Given the description of an element on the screen output the (x, y) to click on. 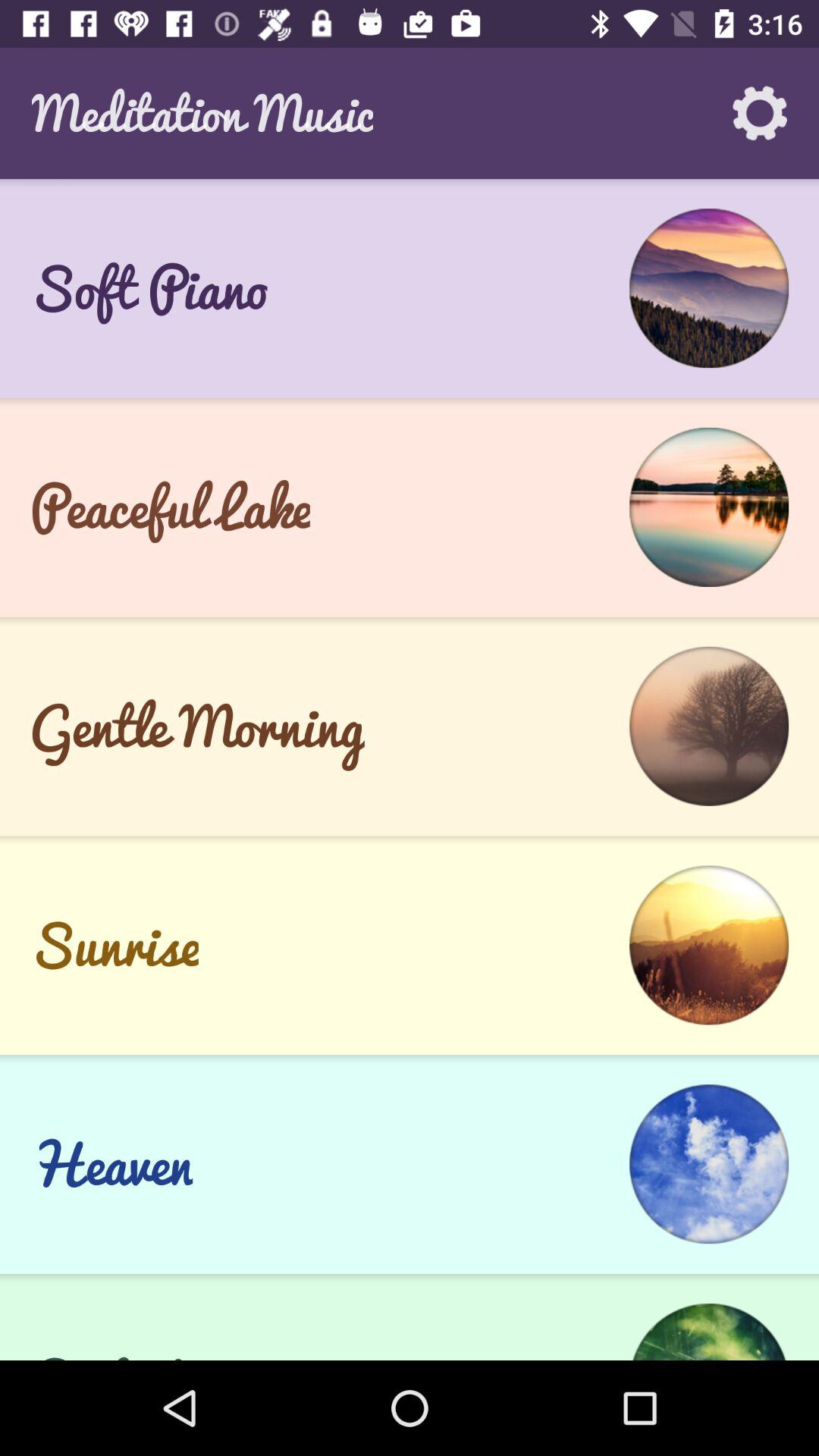
flip until the heaven (111, 1164)
